Given the description of an element on the screen output the (x, y) to click on. 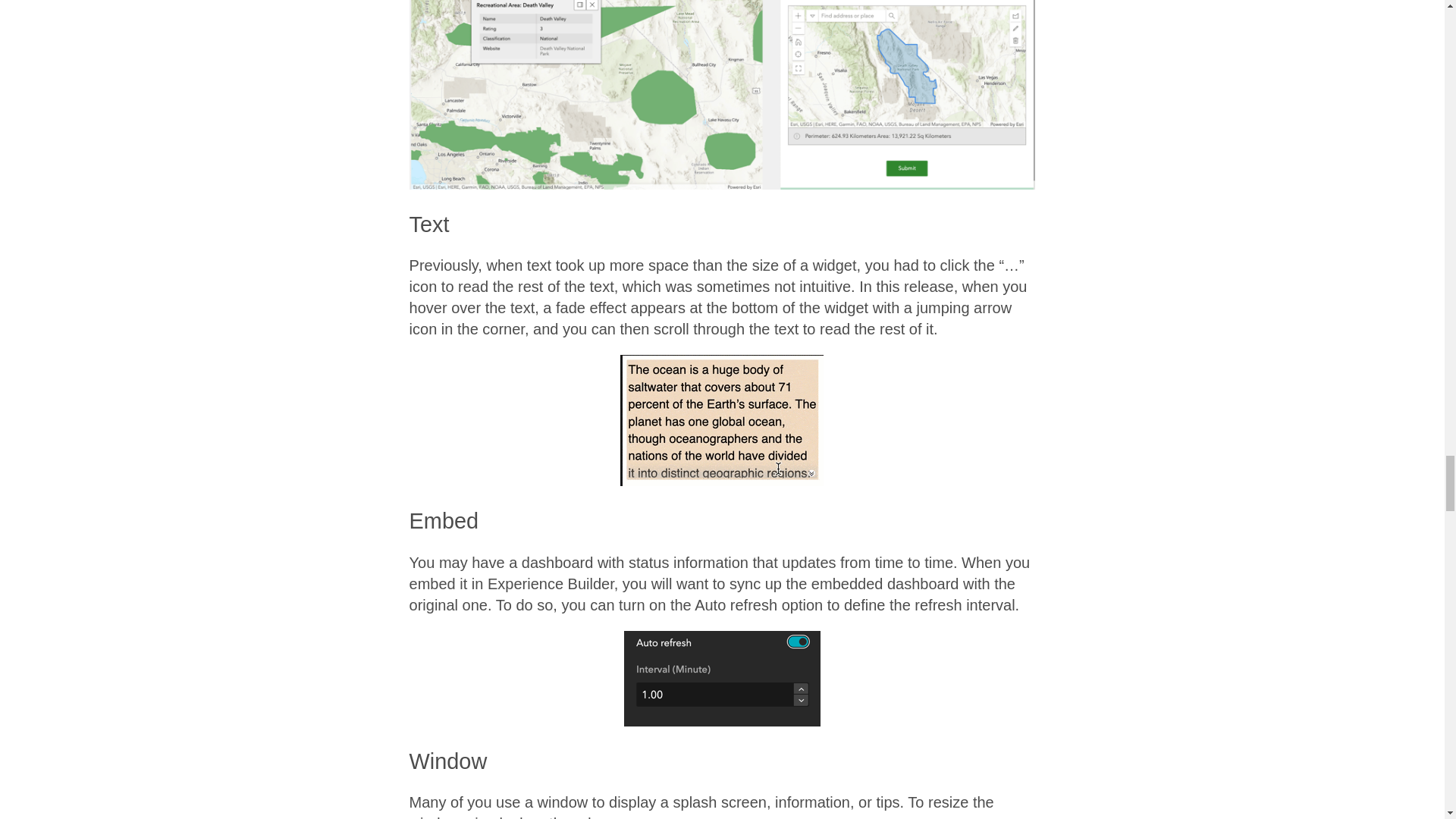
Auto refresh option (722, 678)
Survey with polygon layer (722, 94)
Scroll through text (722, 420)
